Given the description of an element on the screen output the (x, y) to click on. 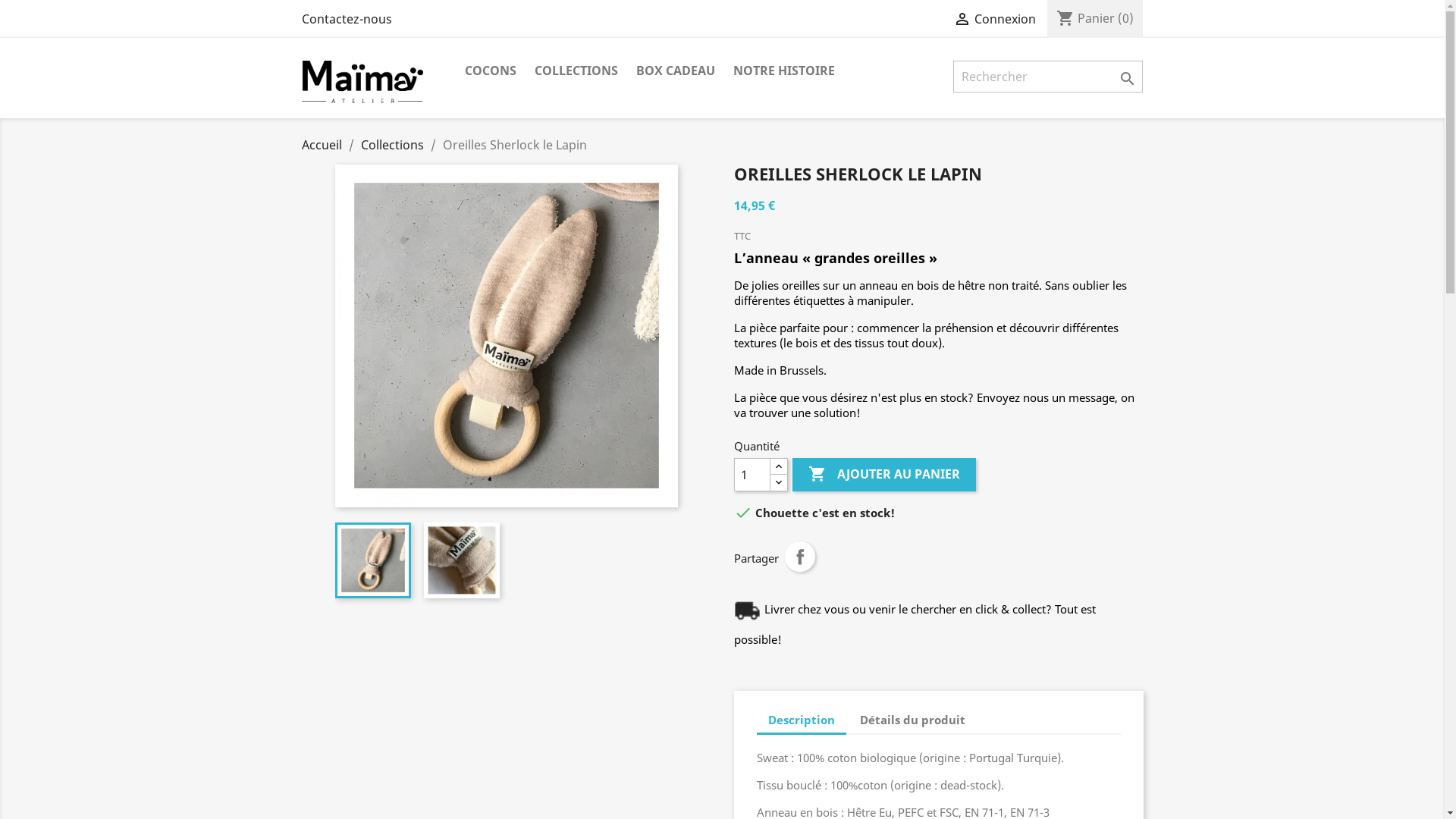
Accueil Element type: text (321, 144)
Contactez-nous Element type: text (346, 18)
Description Element type: text (801, 720)
NOTRE HISTOIRE Element type: text (782, 71)
COCONS Element type: text (489, 71)
Collections Element type: text (391, 144)
COLLECTIONS Element type: text (575, 71)
Partager Element type: text (799, 556)
BOX CADEAU Element type: text (674, 71)
